Given the description of an element on the screen output the (x, y) to click on. 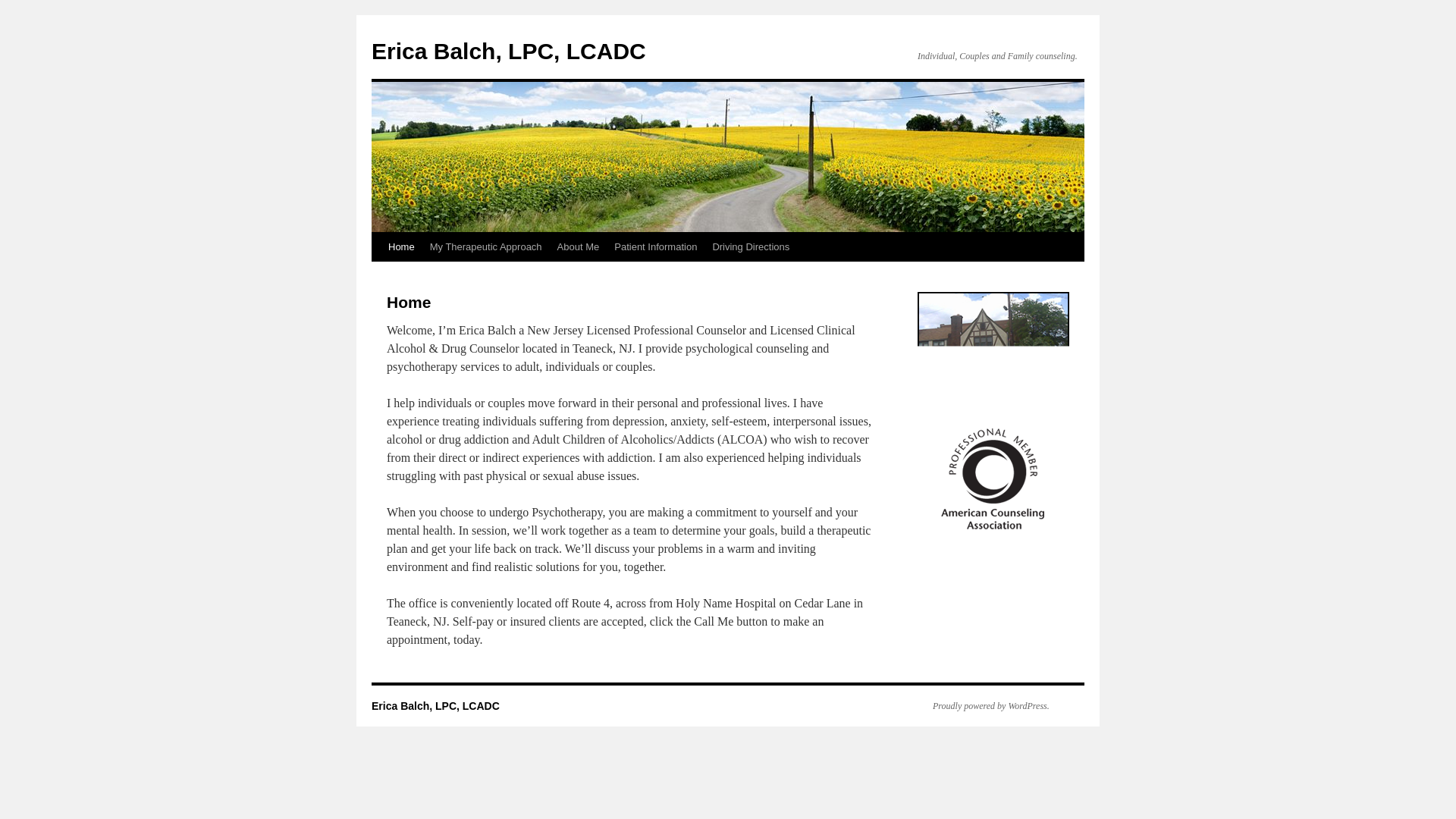
Home (401, 246)
Driving Directions (750, 246)
Patient Information (655, 246)
My Therapeutic Approach (486, 246)
About Me (578, 246)
Erica Balch, LPC, LCADC (508, 50)
Erica Balch, LPC, LCADC (508, 50)
